Given the description of an element on the screen output the (x, y) to click on. 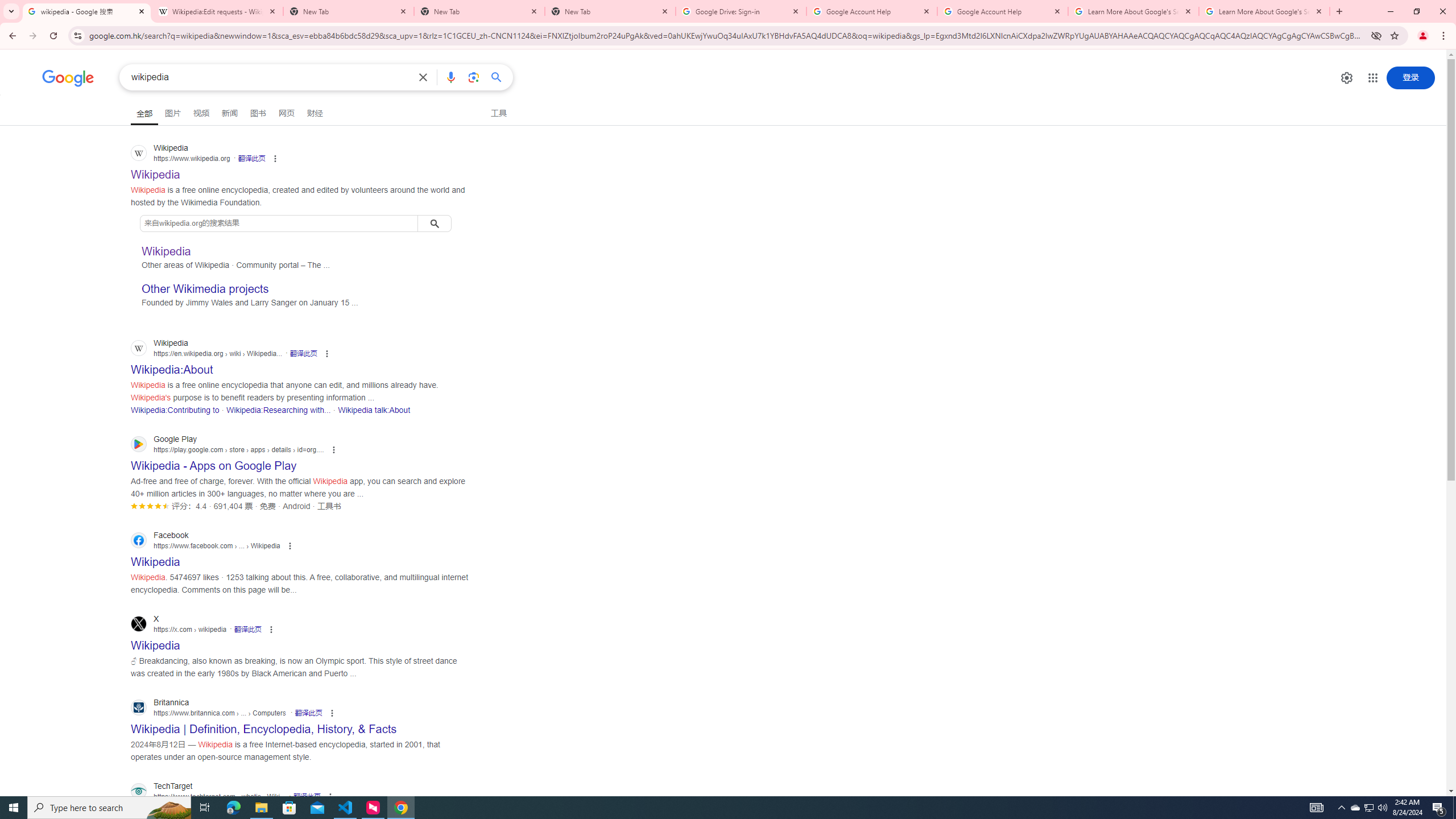
Wikipedia (165, 250)
 Wikipedia Wikipedia https://www.wikipedia.org (155, 171)
Minimize (1390, 11)
Search tabs (10, 11)
Bookmark this tab (1393, 35)
Google Account Help (1002, 11)
System (6, 6)
View site information (77, 35)
Wikipedia:Contributing to (175, 410)
